Given the description of an element on the screen output the (x, y) to click on. 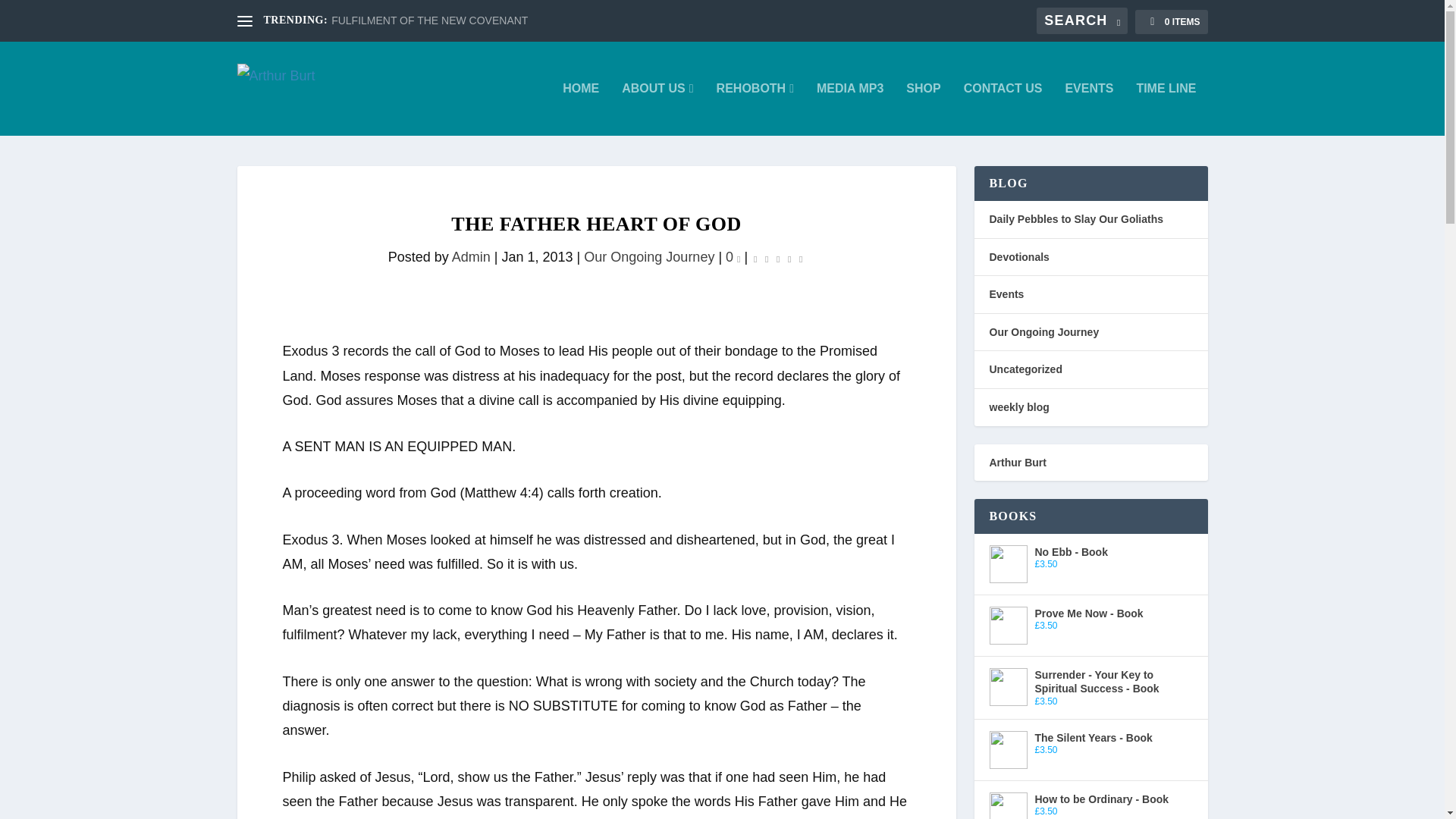
Rating: 0.00 (778, 257)
EVENTS (1088, 108)
Search for: (1081, 20)
ABOUT US (657, 108)
FULFILMENT OF THE NEW COVENANT (429, 20)
Admin (470, 256)
TIME LINE (1165, 108)
REHOBOTH (754, 108)
0 Items in Cart (1171, 21)
0 ITEMS (1171, 21)
Our Ongoing Journey (648, 256)
0 (732, 256)
CONTACT US (1002, 108)
MEDIA MP3 (849, 108)
Posts by Admin (470, 256)
